Given the description of an element on the screen output the (x, y) to click on. 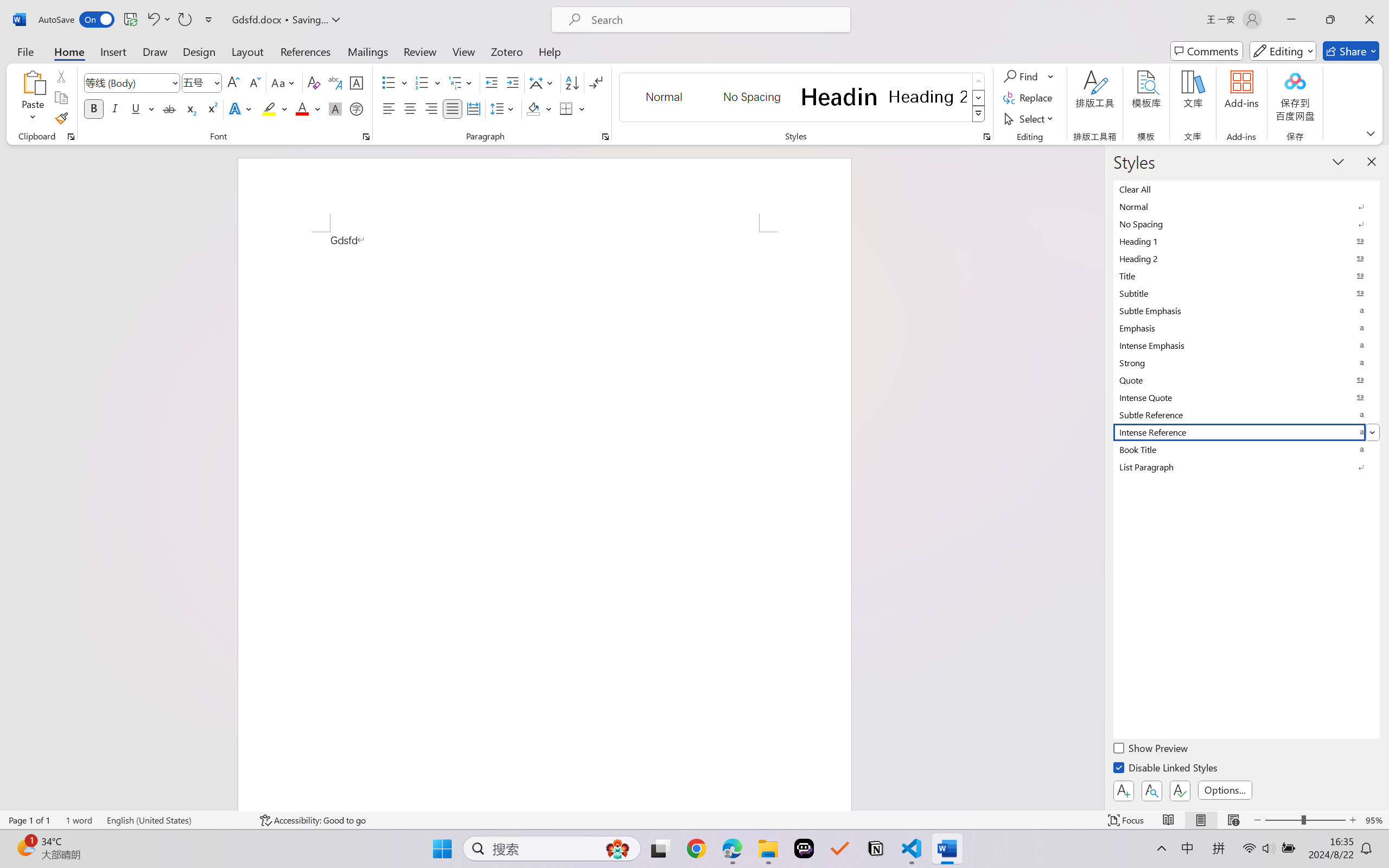
Title (1246, 275)
Bold (94, 108)
Subscript (190, 108)
Align Right (431, 108)
Quote (1246, 379)
Select (1030, 118)
Undo Style (158, 19)
Text Highlight Color Yellow (269, 108)
